Given the description of an element on the screen output the (x, y) to click on. 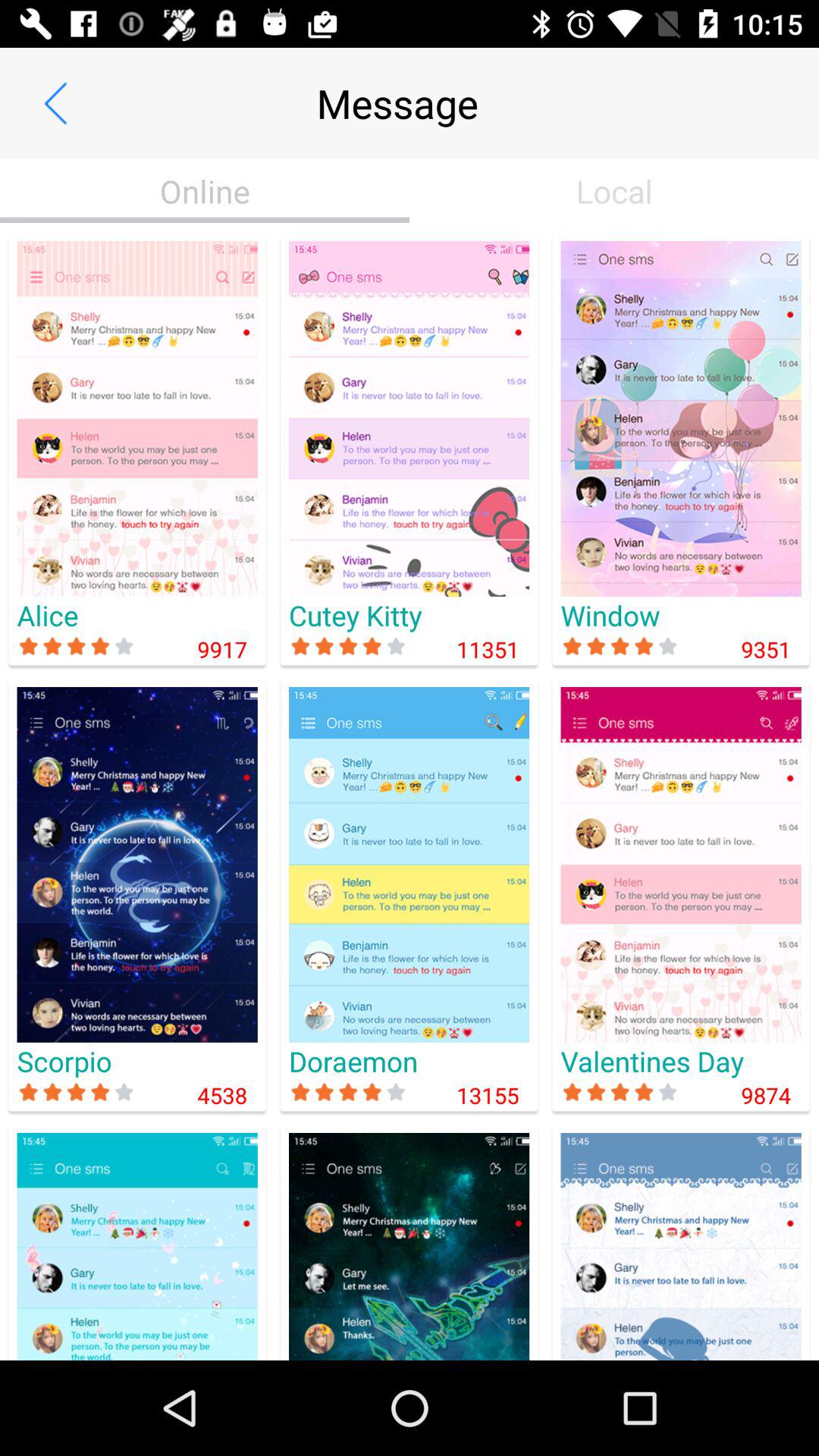
choose the item to the left of the message app (55, 103)
